Given the description of an element on the screen output the (x, y) to click on. 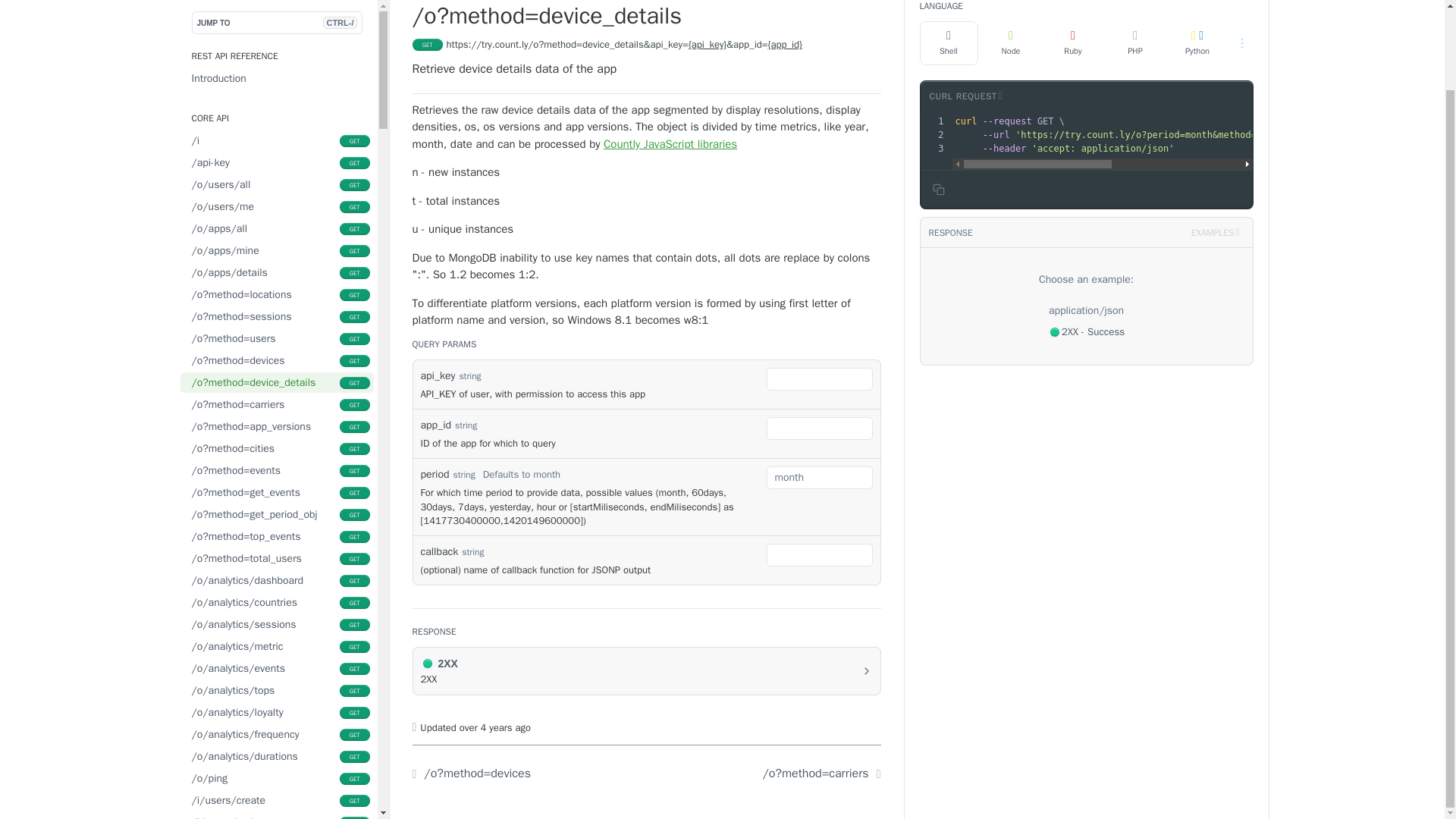
month (818, 477)
Toggle library (965, 96)
Introduction (277, 57)
